Given the description of an element on the screen output the (x, y) to click on. 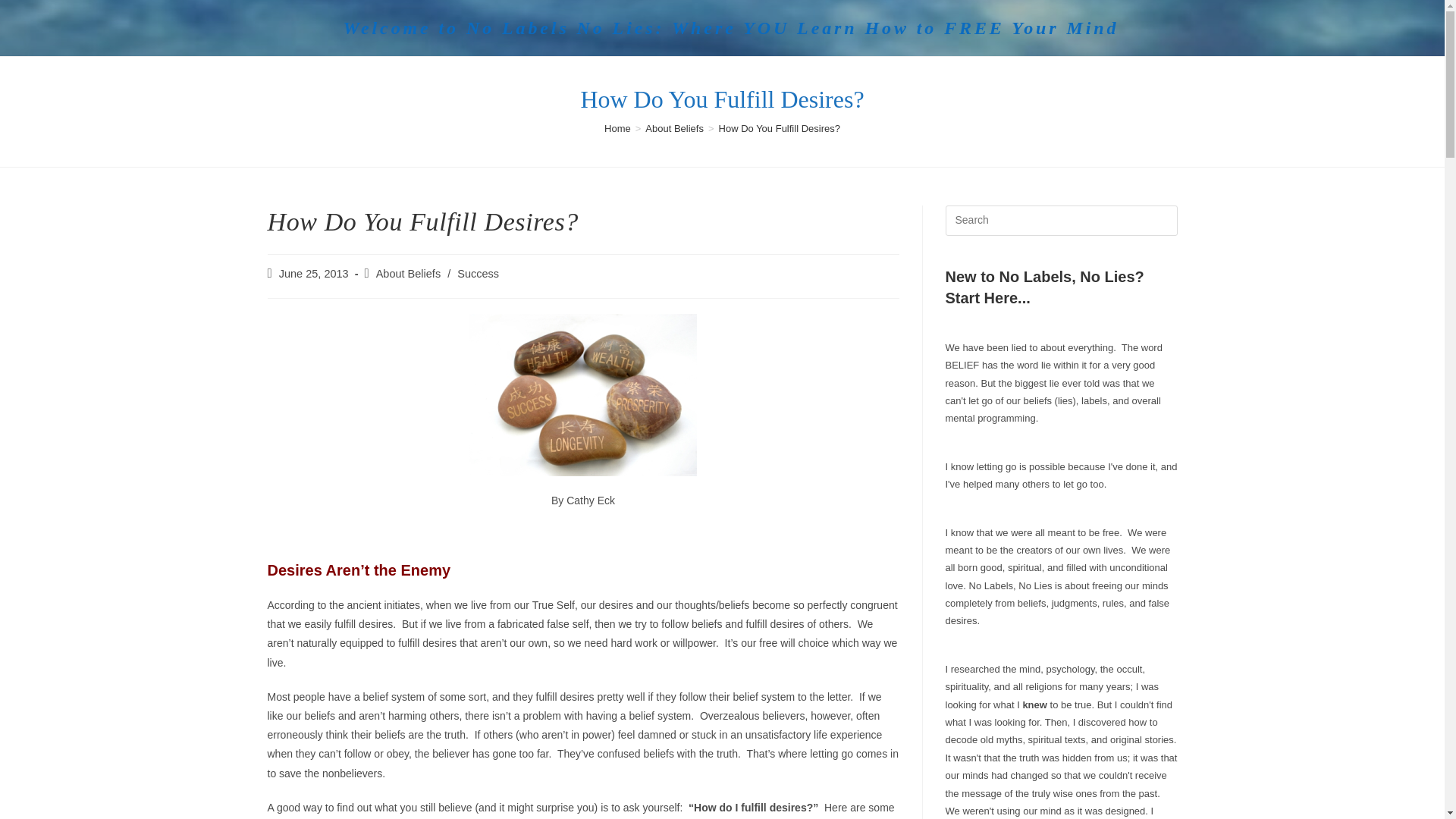
About Beliefs (408, 273)
Home (617, 128)
About Beliefs (674, 128)
Success (478, 273)
How Do You Fulfill Desires? (779, 128)
